Given the description of an element on the screen output the (x, y) to click on. 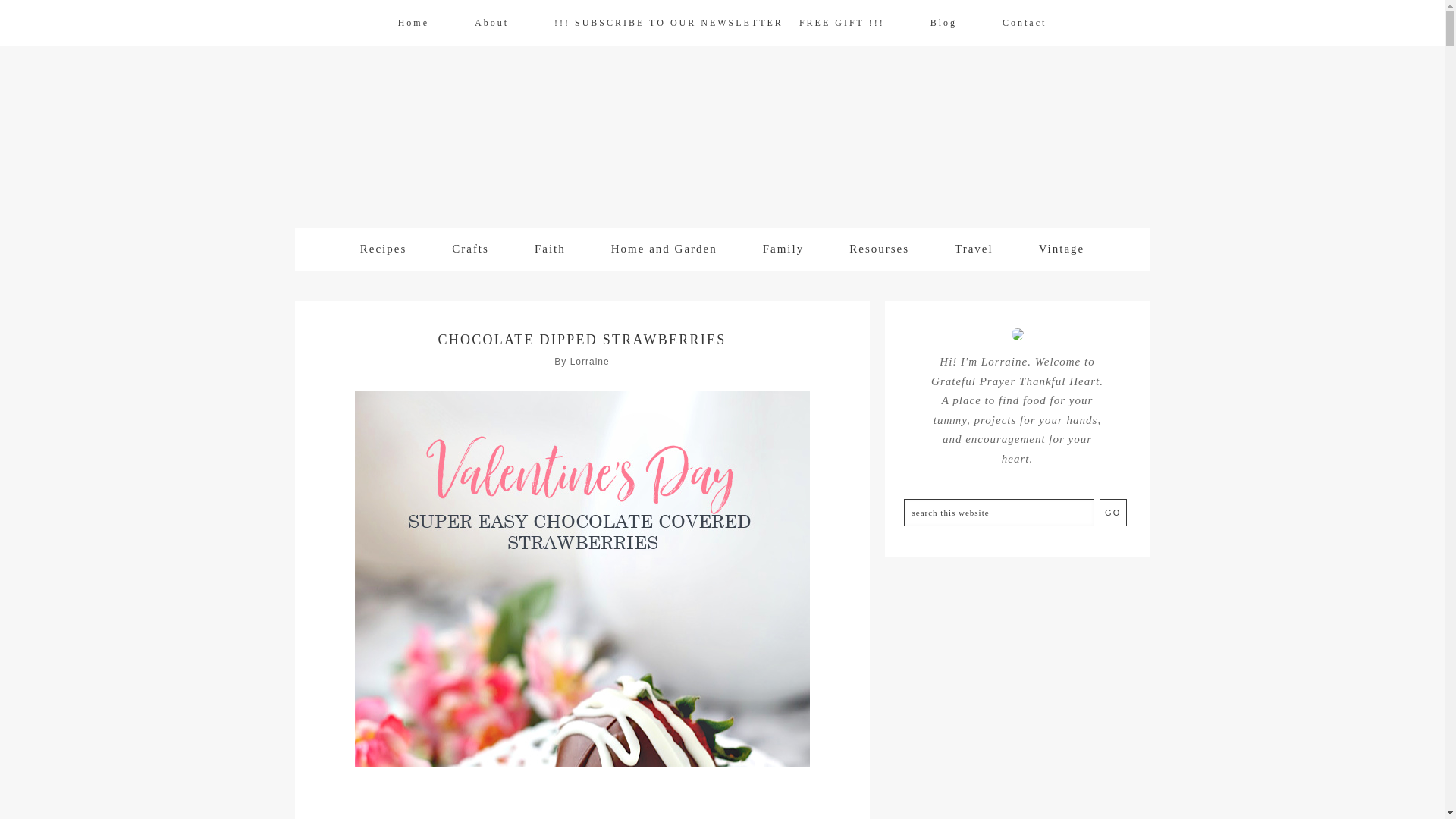
GO (1112, 512)
Home (413, 22)
Recipes (383, 249)
Faith (550, 249)
Blog (943, 22)
Crafts (470, 249)
About (491, 22)
Contact (1023, 22)
GO (1112, 512)
